Given the description of an element on the screen output the (x, y) to click on. 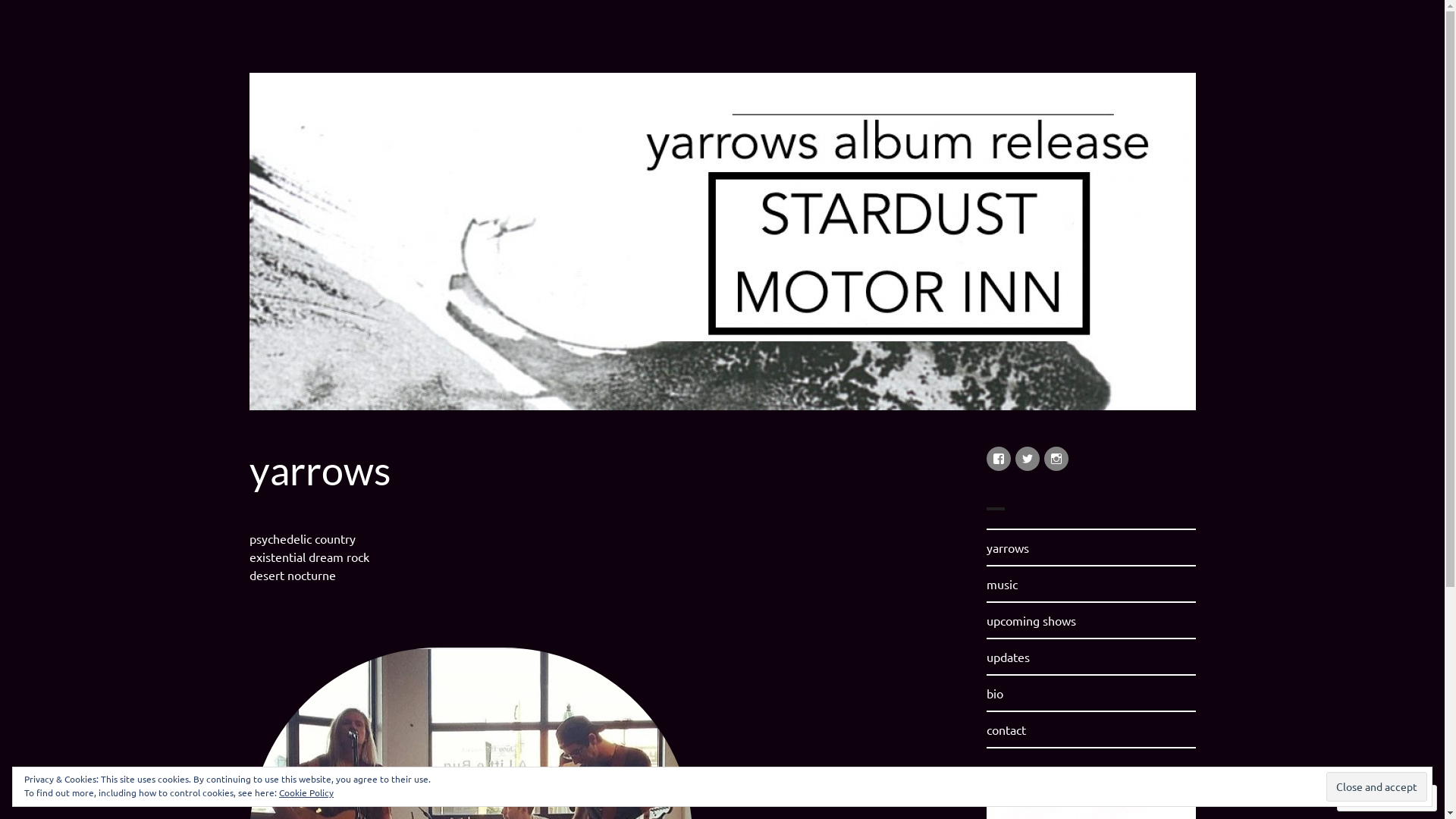
music Element type: text (1000, 583)
Cookie Policy Element type: text (306, 792)
bio Element type: text (993, 692)
Follow Element type: text (1372, 797)
Close and accept Element type: text (1376, 786)
upcoming shows Element type: text (1030, 619)
contact Element type: text (1005, 729)
yarrows Element type: text (292, 50)
yarrows Element type: text (1006, 547)
updates Element type: text (1007, 656)
